Given the description of an element on the screen output the (x, y) to click on. 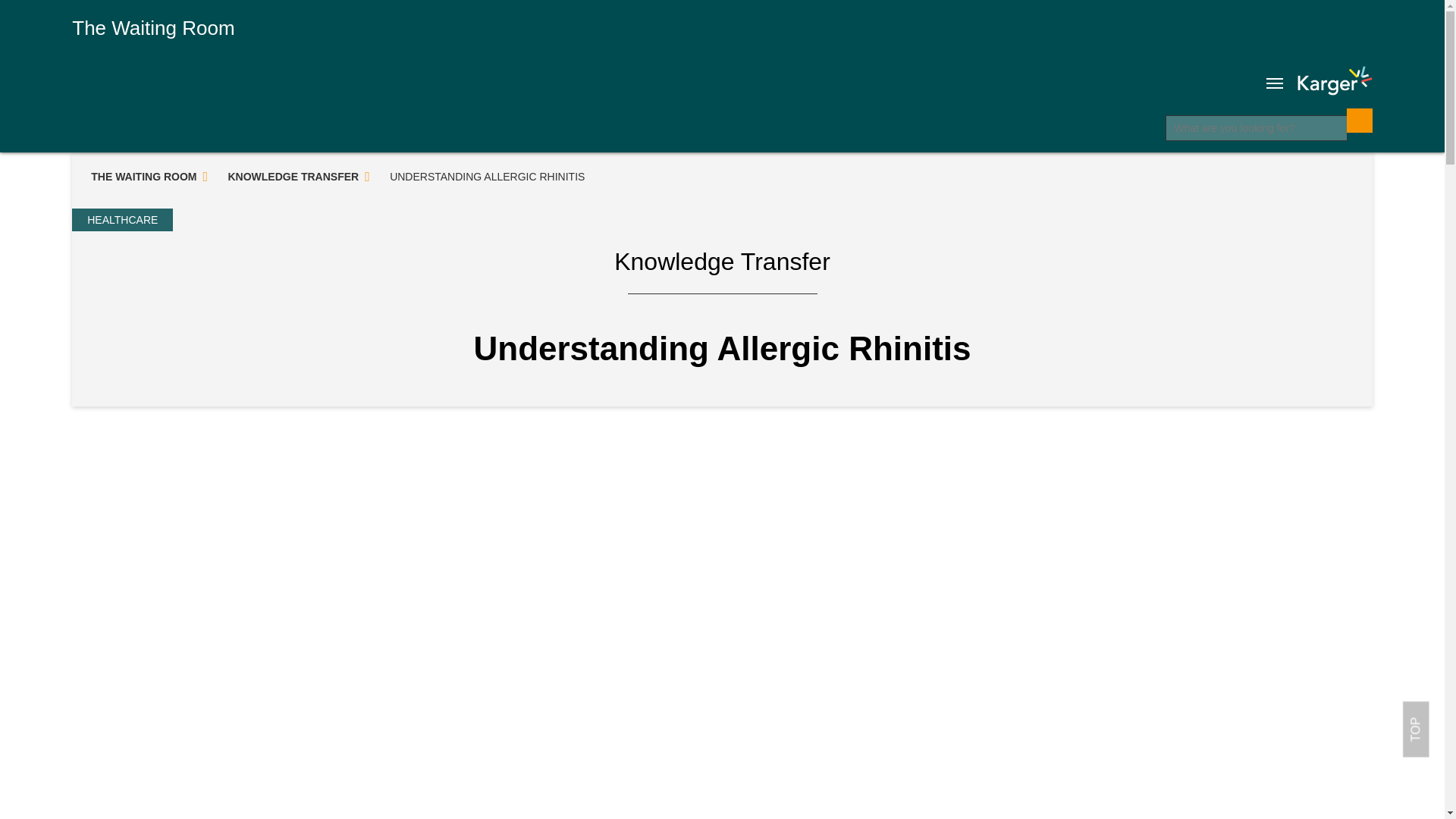
THE WAITING ROOM (141, 176)
UNDERSTANDING ALLERGIC RHINITIS (485, 176)
The Waiting Room (152, 27)
KNOWLEDGE TRANSFER (291, 176)
